Given the description of an element on the screen output the (x, y) to click on. 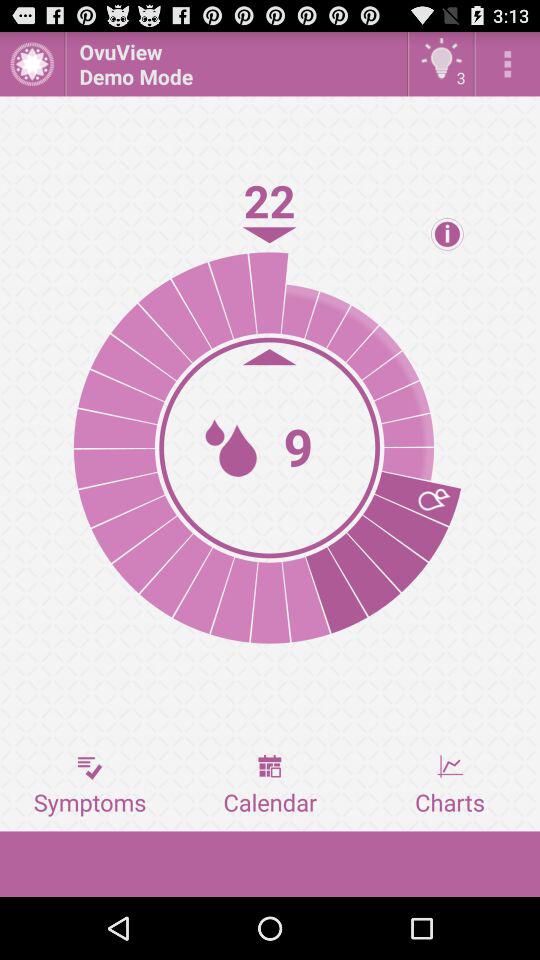
open icon at the top (236, 63)
